Given the description of an element on the screen output the (x, y) to click on. 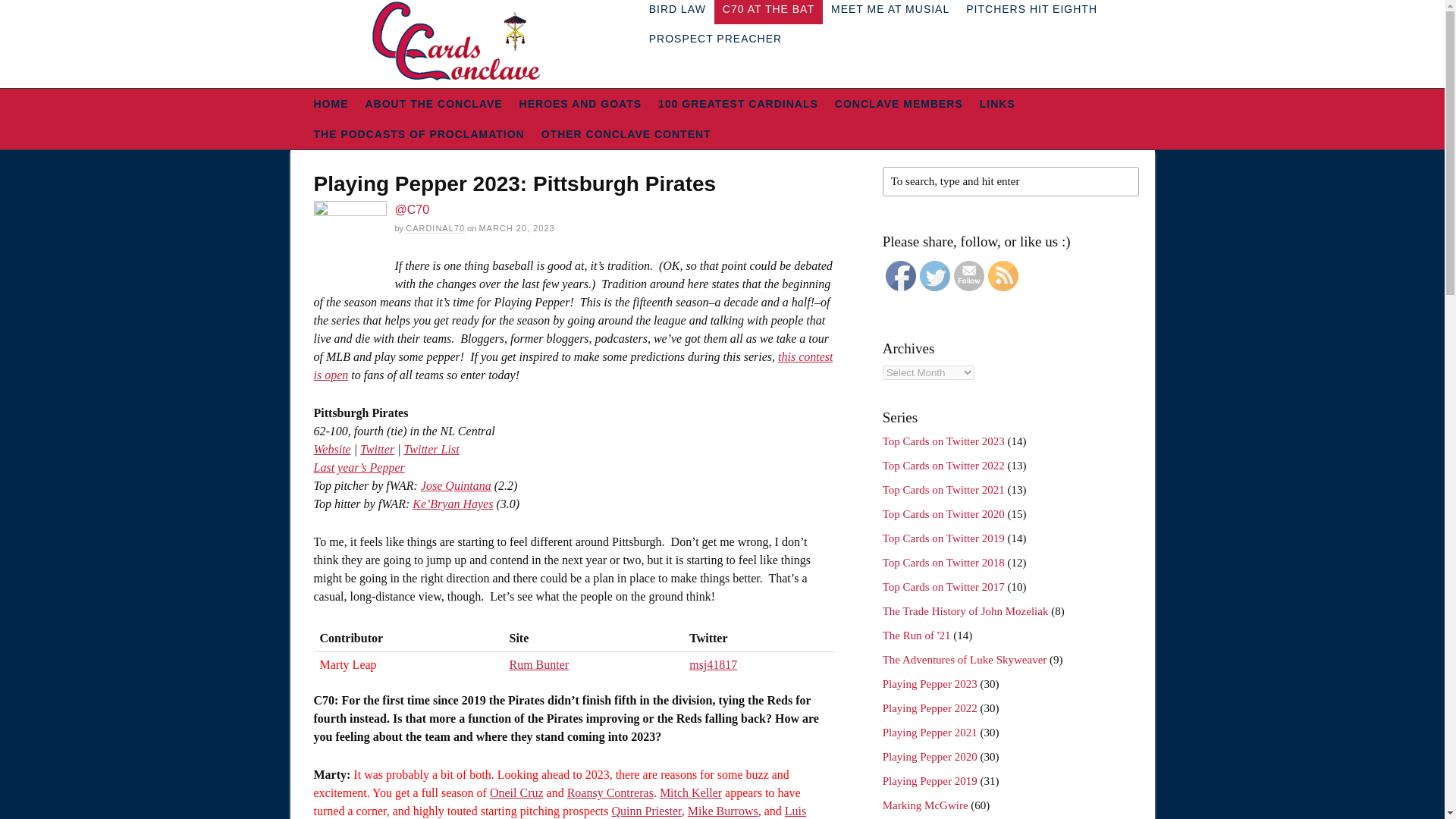
RSS (1002, 276)
PITCHERS HIT EIGHTH (1031, 12)
Follow by Email (968, 276)
CONCLAVE MEMBERS (899, 103)
OTHER CONCLAVE CONTENT (625, 133)
To search, type and hit enter (1010, 181)
THE PODCASTS OF PROCLAMATION (418, 133)
CARDINAL70 (435, 228)
LINKS (997, 103)
100 GREATEST CARDINALS (738, 103)
Twitter (935, 276)
ABOUT THE CONCLAVE (433, 103)
C70 AT THE BAT (768, 12)
HEROES AND GOATS (580, 103)
PROSPECT PREACHER (715, 39)
